Given the description of an element on the screen output the (x, y) to click on. 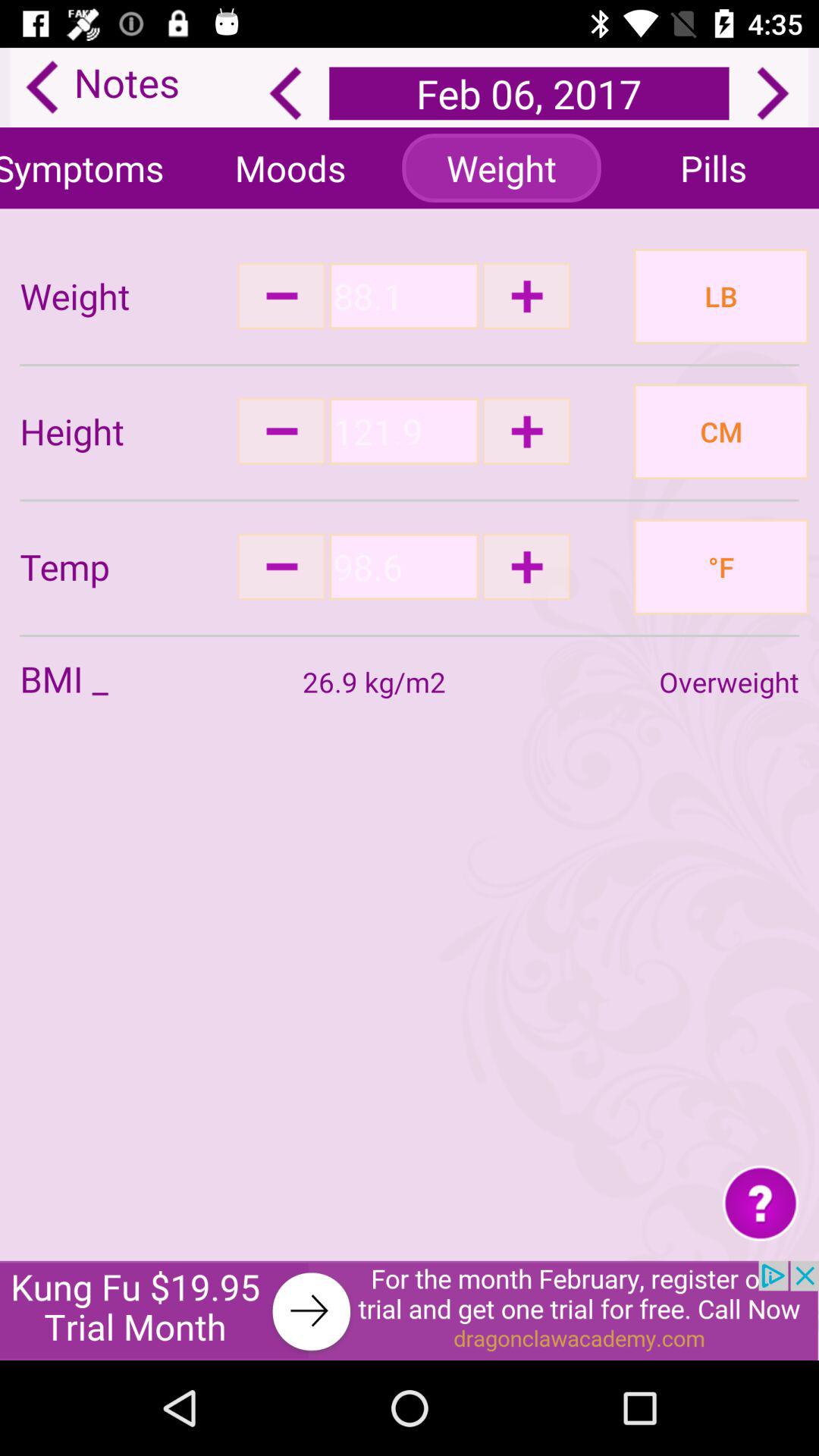
increase input (526, 431)
